Given the description of an element on the screen output the (x, y) to click on. 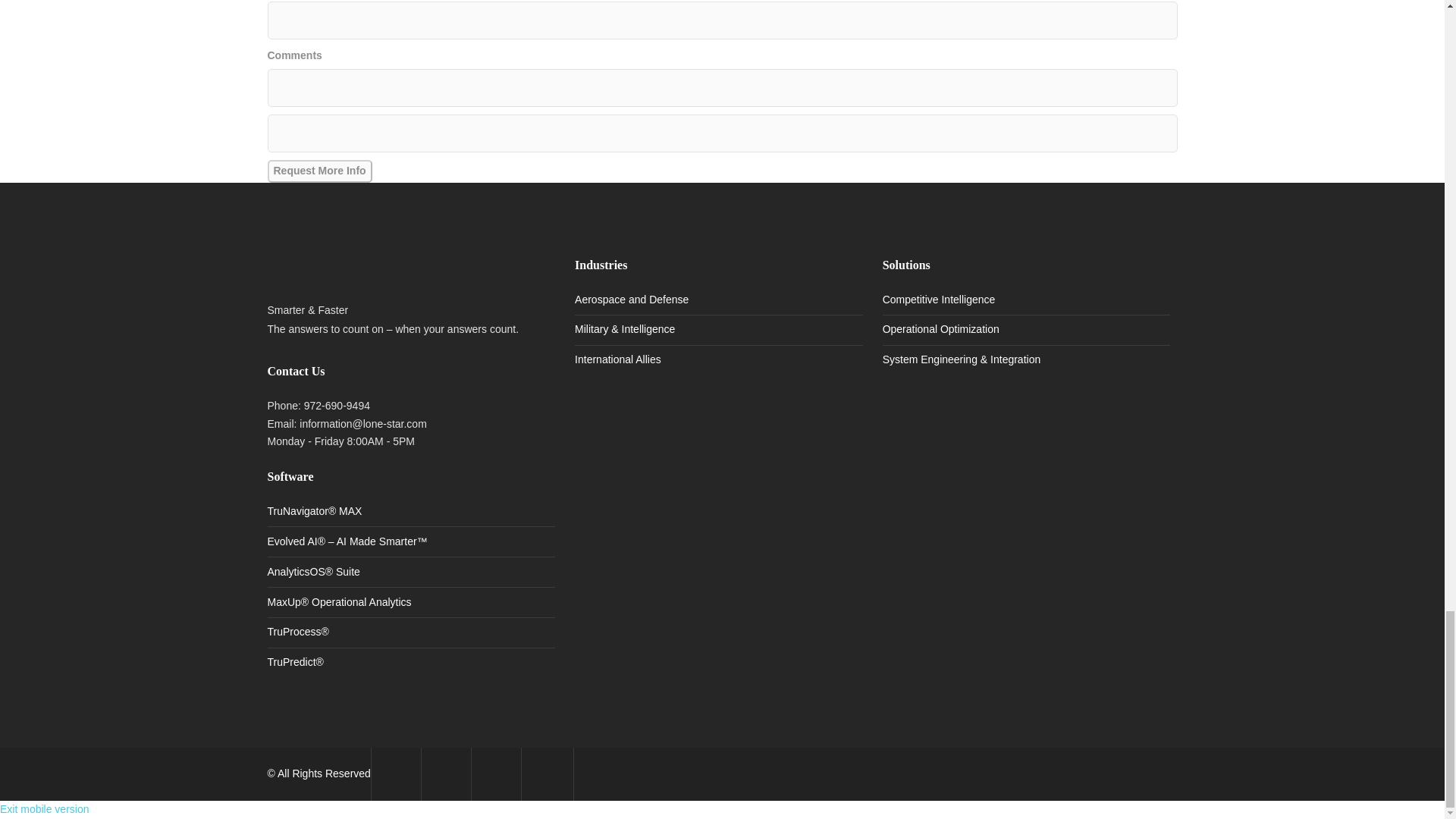
Request More Info (318, 170)
